Given the description of an element on the screen output the (x, y) to click on. 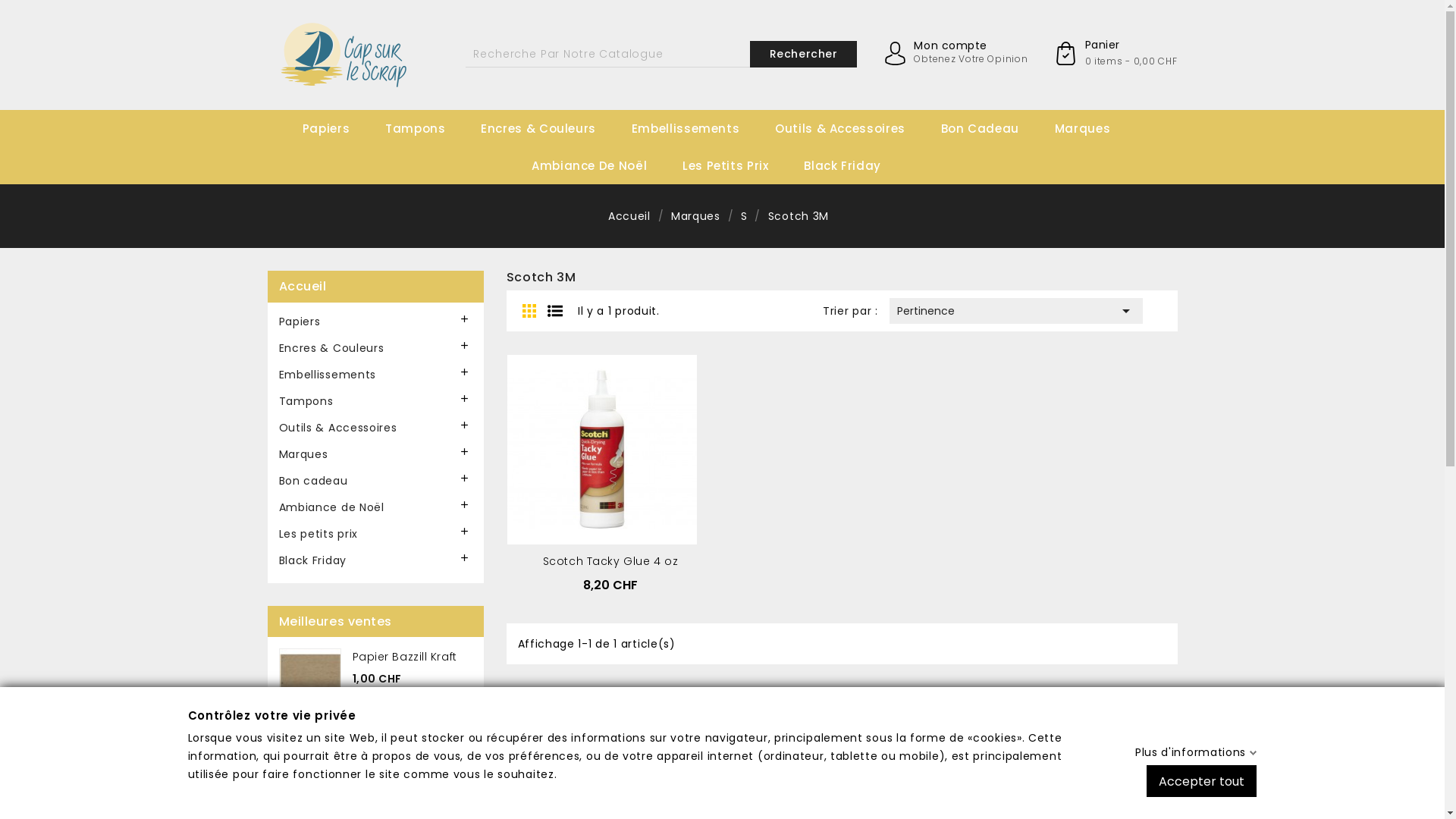
Scotch 3M Element type: text (798, 215)
AALL And Create Element type: text (864, 191)
Encres & Couleurs Element type: text (553, 128)
Marques Element type: text (375, 456)
Tampons Clear Element type: text (450, 155)
Rechercher Element type: text (803, 53)
Scotch Tacky Glue 4 oz Element type: text (609, 560)
Les petits prix Element type: text (375, 535)
Crayon de couleurs aquarellables Element type: text (545, 161)
Les Petits Prix - 20% Element type: text (742, 191)
Alexandra Renke Element type: text (840, 154)
Tampons Element type: text (375, 403)
Alexandra Renke Element type: text (1119, 154)
The Stamp Market format A4 Element type: text (367, 161)
Outils & Accessoires Element type: text (375, 429)
Outils & Accessoires Element type: text (856, 128)
Encres & Couleurs Element type: text (375, 349)
Combo Tampon Clear / Dies Element type: text (450, 162)
Sizzix Sidekick Cutting Pads Element type: text (840, 161)
CAP SUR LE SCRAP Element type: text (591, 191)
Aquarelles Element type: text (545, 155)
Bon Cadeau Envoi Par Mail Element type: text (1001, 161)
Alphabet Et Chiffres Element type: text (692, 154)
Marques Element type: text (1098, 128)
Tampons Element type: text (430, 128)
Embellissements Element type: text (701, 128)
Poudre Lindy's gang Element type: text (545, 154)
Blanc Element type: text (367, 154)
Accueil Element type: text (631, 215)
Black Friday Element type: text (375, 562)
Papier Bazzill Coconut Swirl Element type: text (430, 729)
Bon cadeau Element type: text (375, 482)
Papiers Element type: text (341, 128)
Unis Element type: text (367, 155)
Papier Bazzill Kraft Element type: text (403, 656)
Accessoires Machines Element type: text (840, 155)
Accepter tout Element type: text (1201, 780)
Papier Uni No 9 BLANC PUR Element type: text (426, 803)
A Element type: text (1119, 155)
Bon Cadeau Element type: text (996, 128)
Marques Element type: text (697, 215)
Les Petits Prix Element type: text (741, 165)
Papiers Element type: text (375, 323)
S Element type: text (745, 215)
Embellissements Element type: text (375, 376)
Black Friday Element type: text (858, 165)
Aall & Create Element type: text (450, 154)
